Given the description of an element on the screen output the (x, y) to click on. 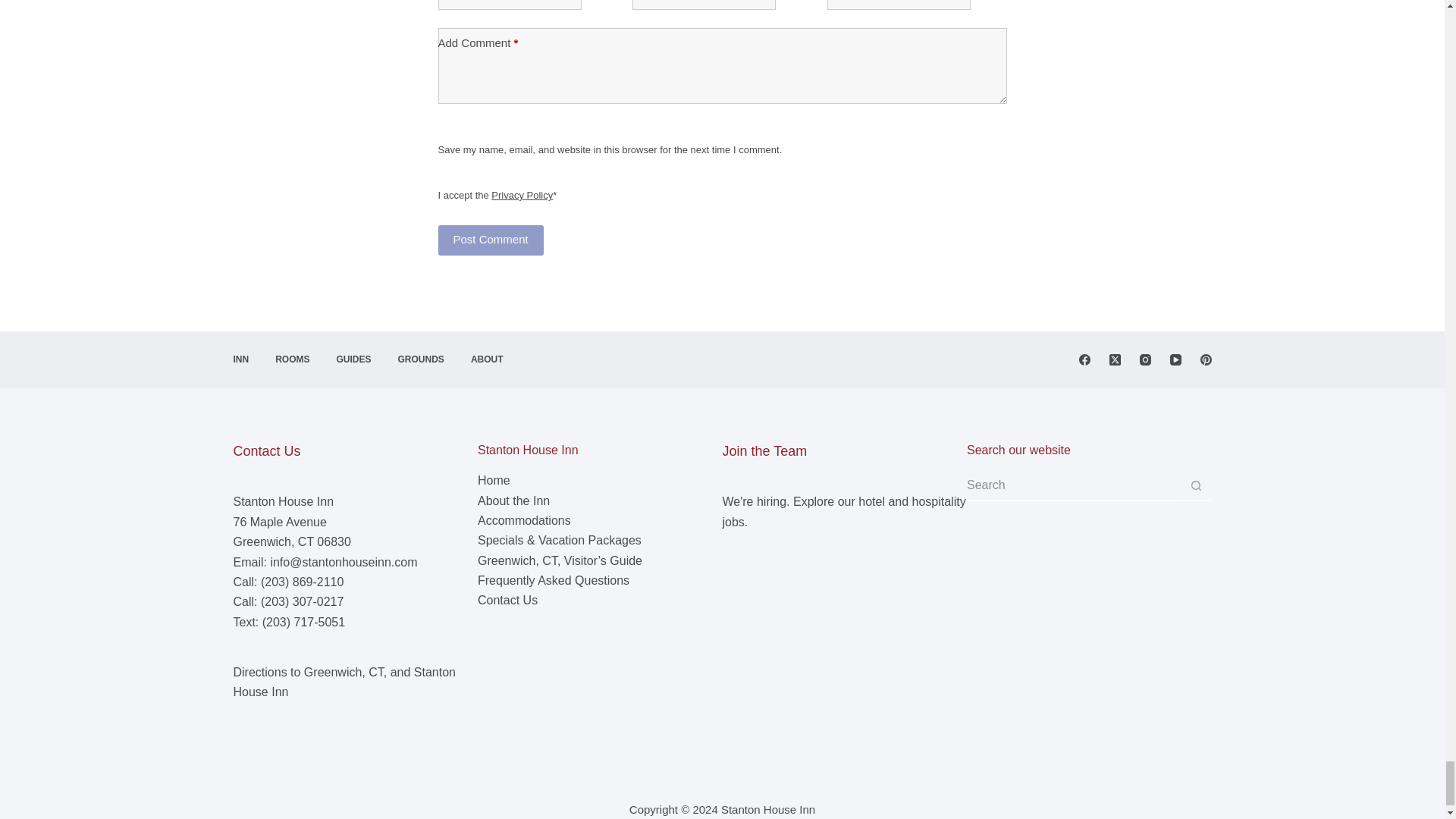
Search for... (1073, 485)
yes (443, 132)
on (443, 177)
